Given the description of an element on the screen output the (x, y) to click on. 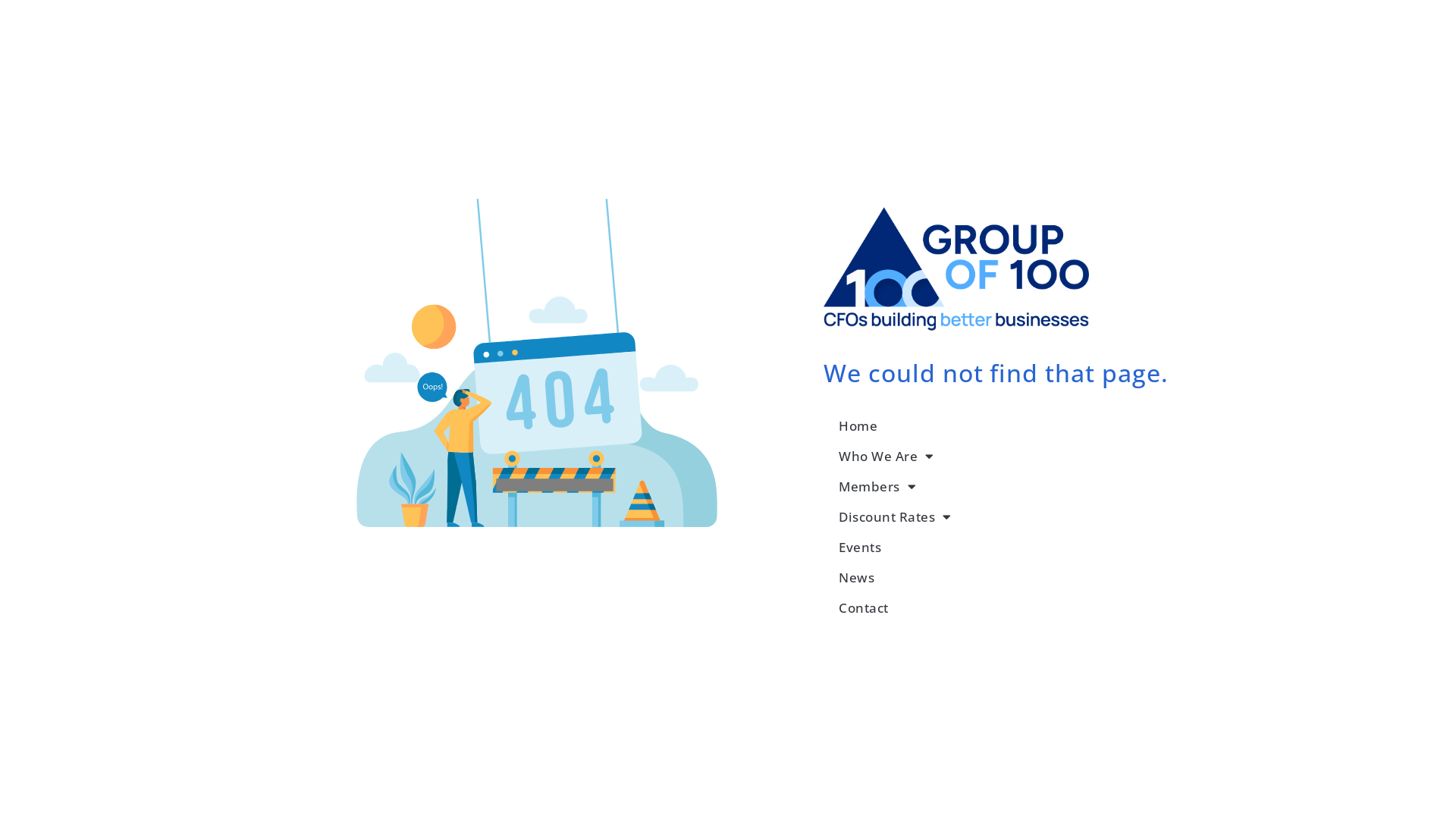
Events Element type: text (1003, 547)
Members Element type: text (1003, 486)
Contact Element type: text (1003, 608)
Discount Rates Element type: text (1003, 517)
Home Element type: text (1003, 426)
News Element type: text (1003, 577)
Who We Are Element type: text (1003, 456)
